Given the description of an element on the screen output the (x, y) to click on. 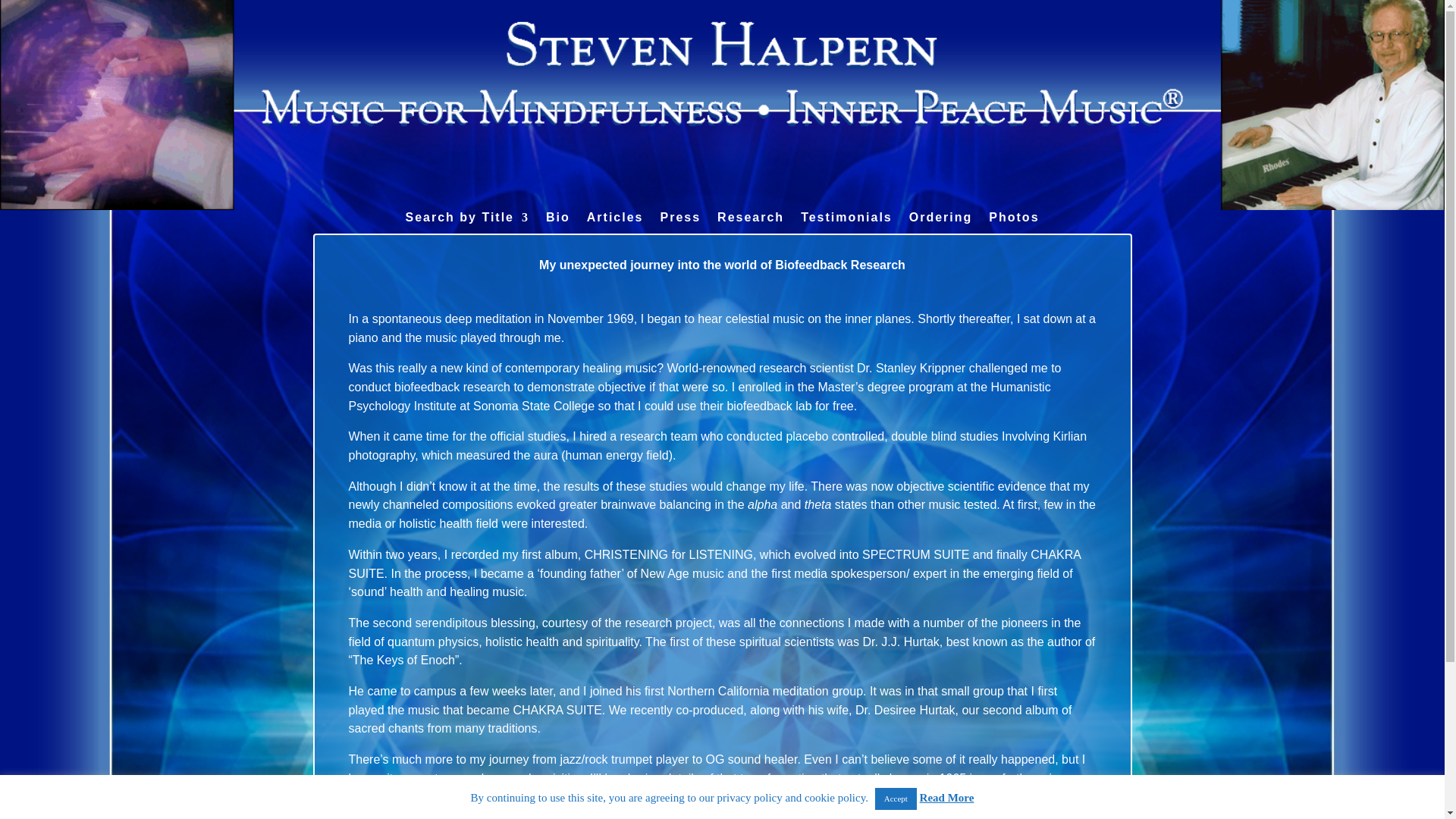
Accept (896, 798)
Ordering (940, 228)
Read More (947, 797)
Photos (1013, 228)
Research (750, 228)
Search by Title (466, 228)
Articles (614, 228)
Press (679, 228)
Testimonials (846, 228)
Bio (558, 228)
